Given the description of an element on the screen output the (x, y) to click on. 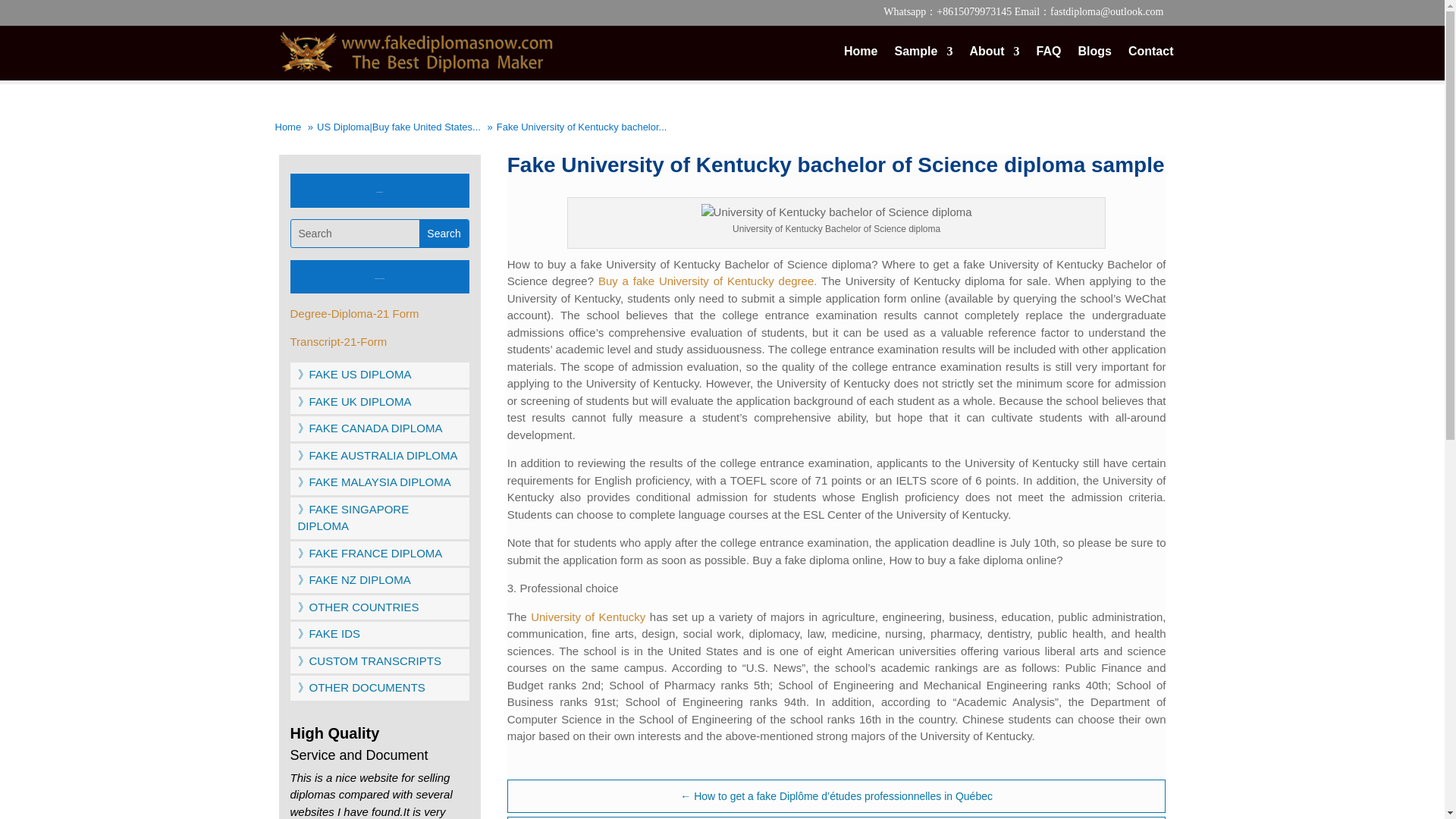
Home (860, 62)
FAKE IDS (328, 633)
Fake Canada diplomas (353, 400)
Fake Canada diplomas (353, 373)
Search (443, 233)
Degree-Diploma-21 Form (354, 313)
Fake University of Kentucky bachelor... (581, 127)
Fake Canada diplomas (358, 606)
Fake Canada diplomas (369, 427)
About (994, 62)
Home (288, 127)
Search (443, 233)
Contact (1150, 62)
Transcript-21-Form (338, 341)
